Given the description of an element on the screen output the (x, y) to click on. 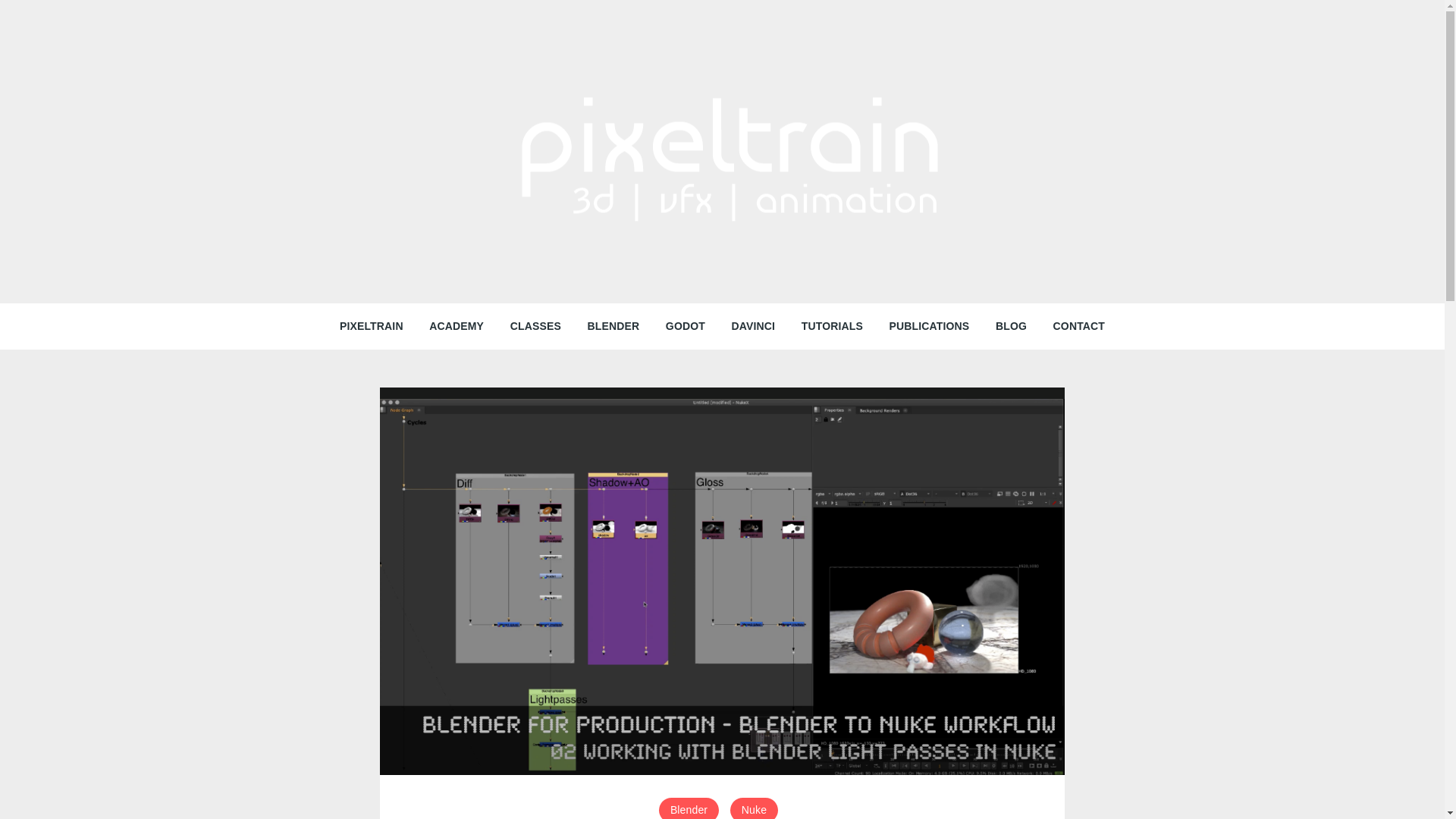
Nuke (753, 808)
DAVINCI (753, 326)
TUTORIALS (832, 326)
CLASSES (535, 326)
BLOG (1011, 326)
GODOT (684, 326)
PUBLICATIONS (929, 326)
PIXELTRAIN (371, 326)
Blender (689, 808)
BLENDER (613, 326)
ACADEMY (456, 326)
CONTACT (1079, 326)
